Given the description of an element on the screen output the (x, y) to click on. 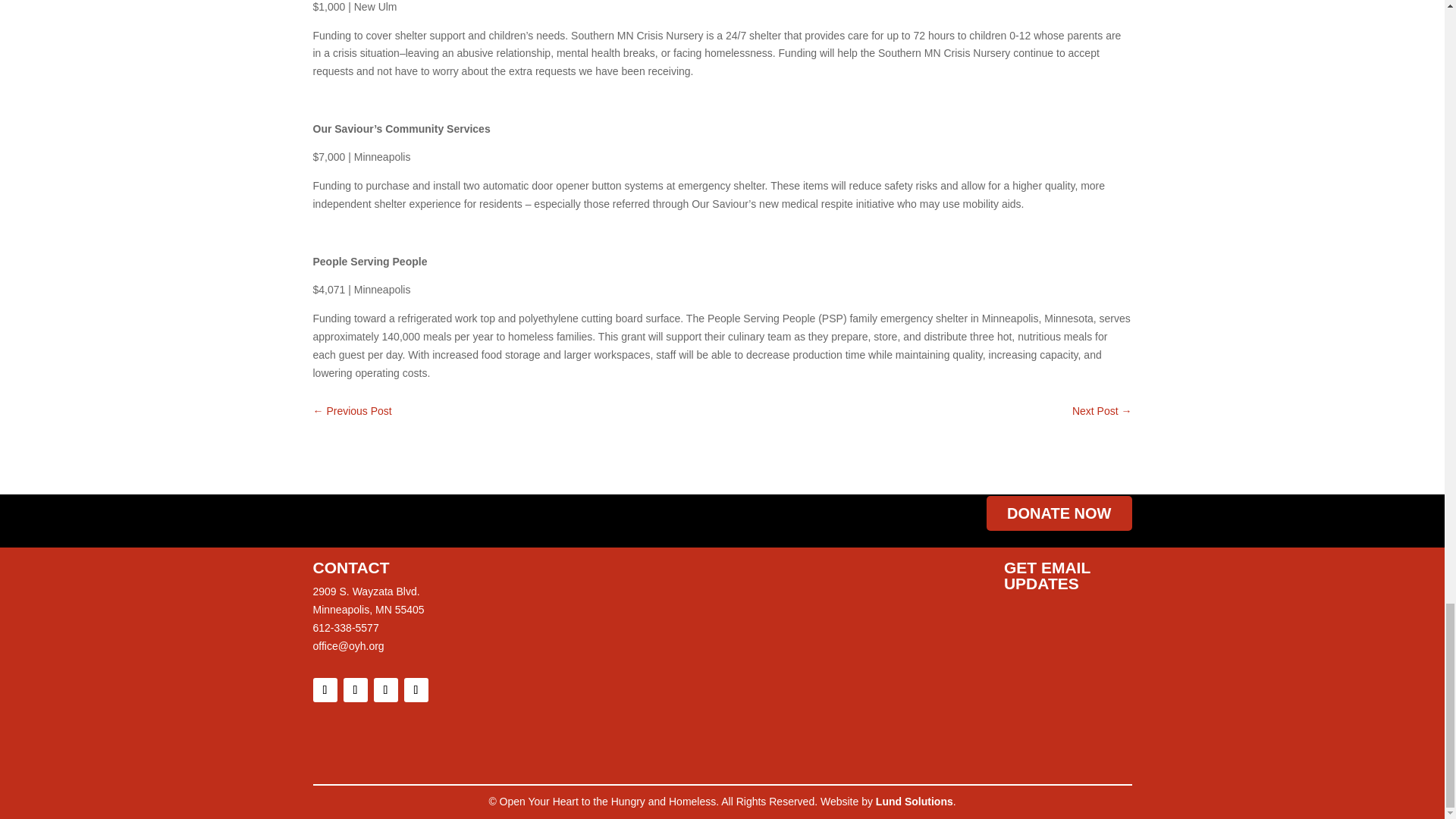
Follow on Facebook (324, 689)
Follow on Instagram (354, 689)
Follow on X (384, 689)
Follow on LinkedIn (415, 689)
DONATE NOW (1059, 513)
